Given the description of an element on the screen output the (x, y) to click on. 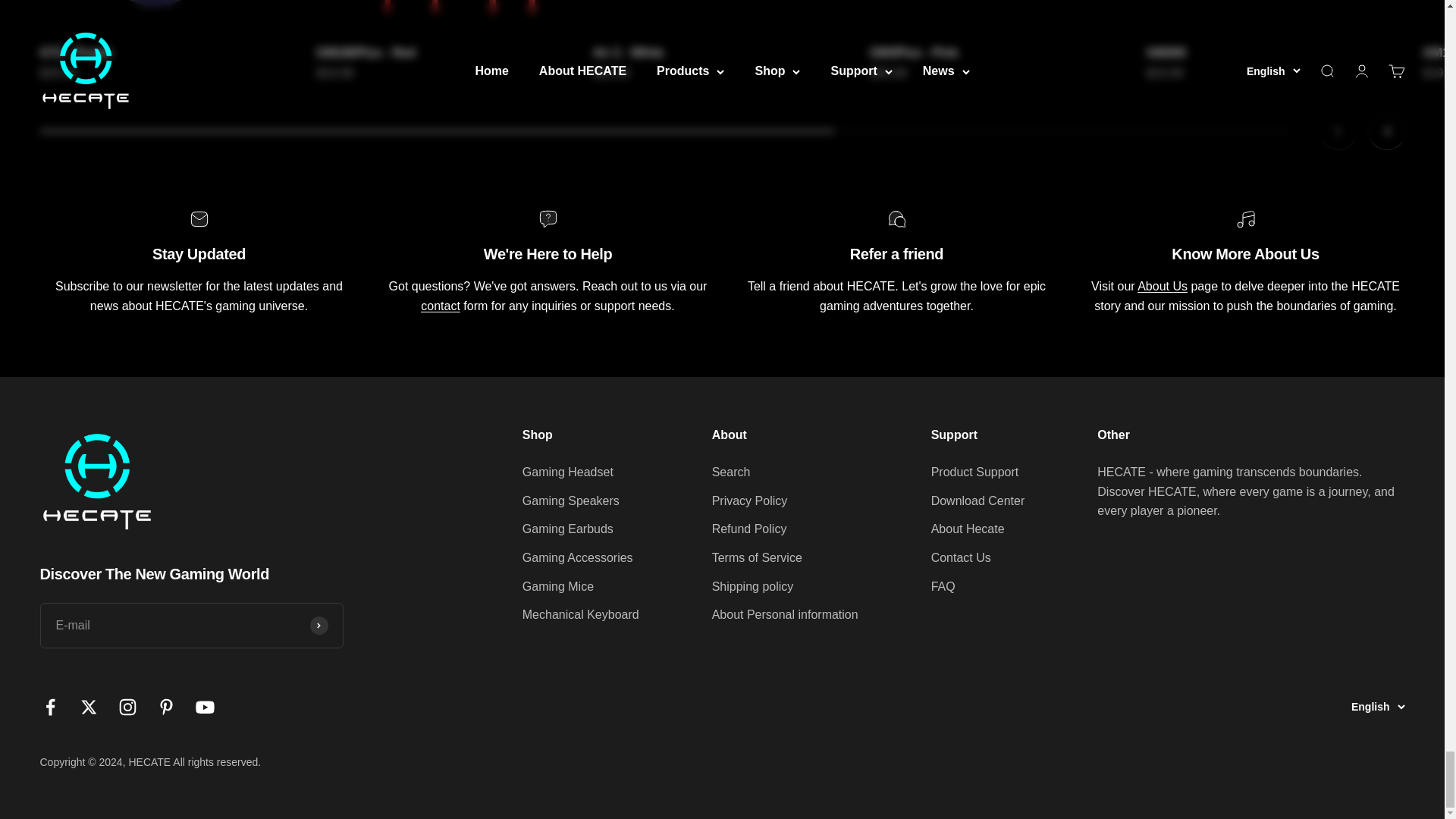
About Us (1362, 131)
Contact Us (1162, 286)
Product Support (440, 305)
About Us (722, 131)
